Given the description of an element on the screen output the (x, y) to click on. 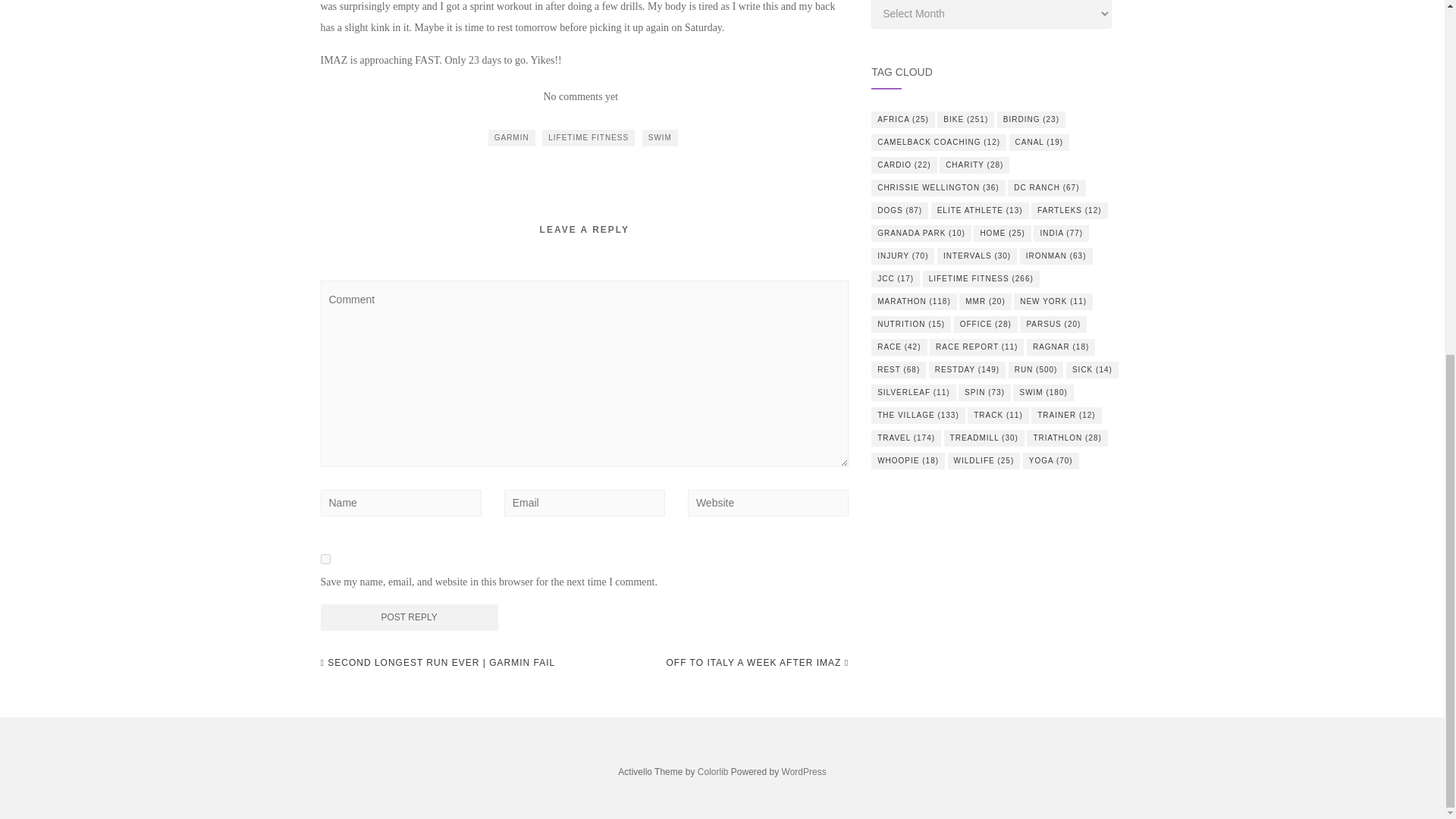
GARMIN (511, 137)
LIFETIME FITNESS (587, 137)
Post Reply (408, 617)
OFF TO ITALY A WEEK AFTER IMAZ (756, 662)
SWIM (660, 137)
No comments yet (580, 96)
yes (325, 559)
Post Reply (408, 617)
